Given the description of an element on the screen output the (x, y) to click on. 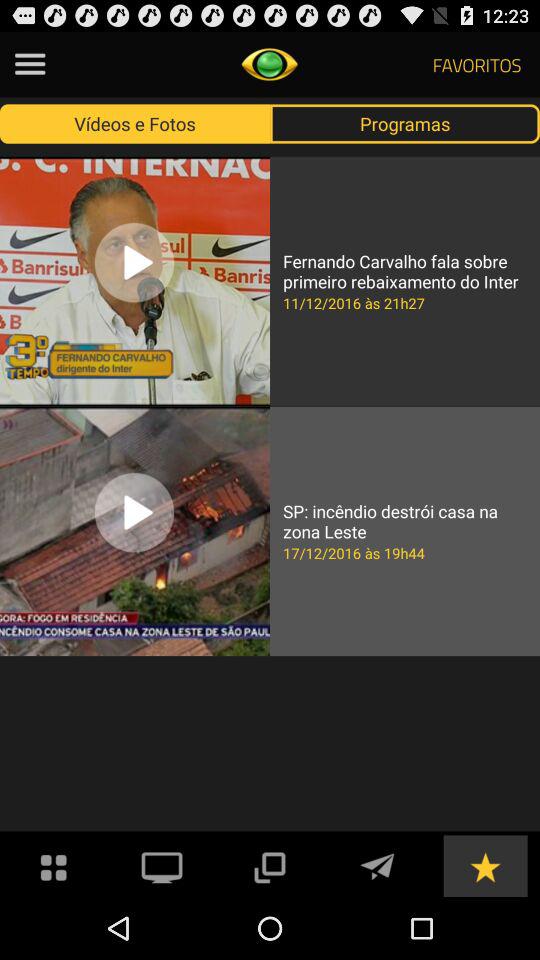
write an email or send an email (377, 865)
